Given the description of an element on the screen output the (x, y) to click on. 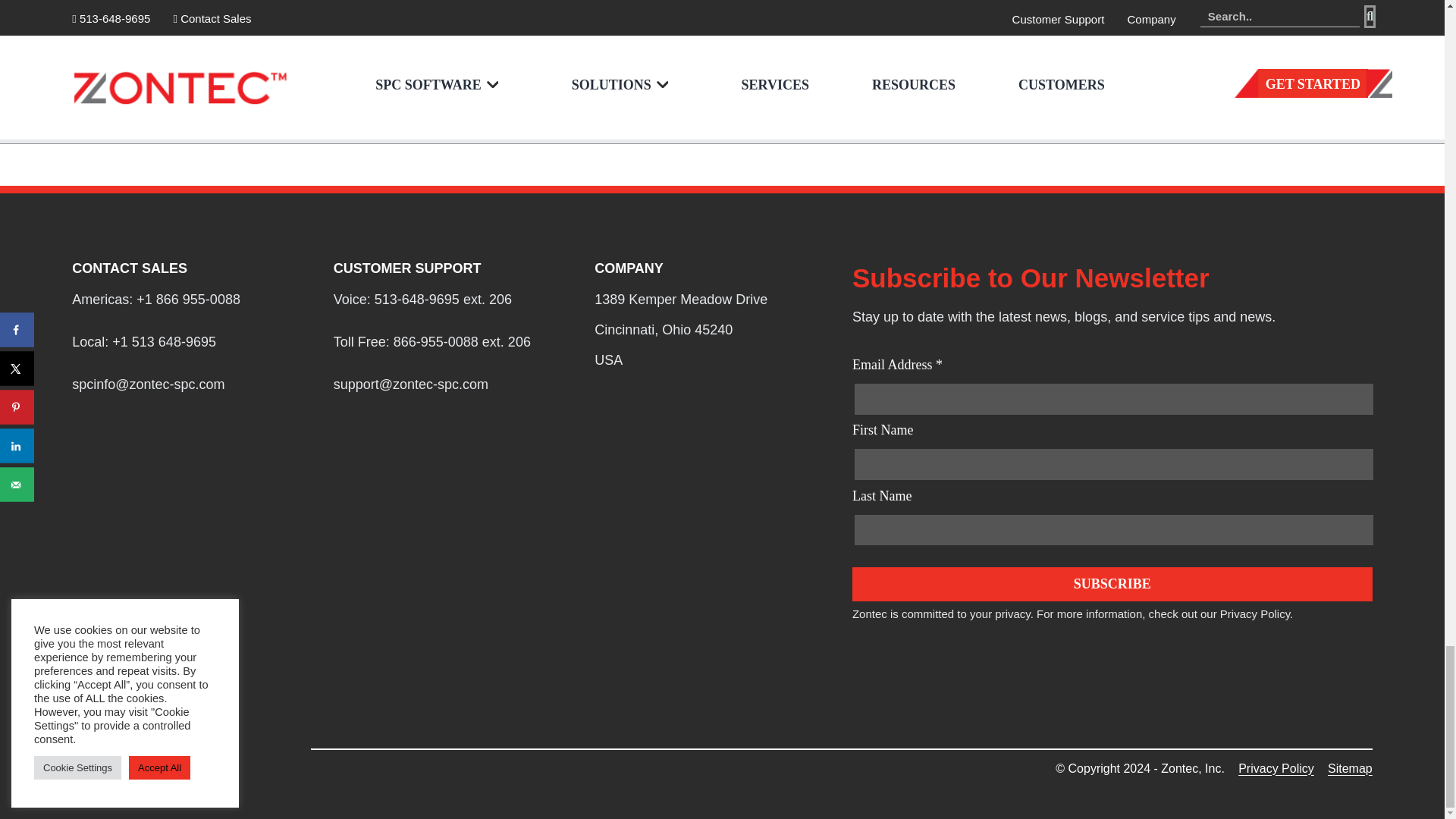
Subscribe (1112, 584)
513-648-9695 (417, 299)
